Given the description of an element on the screen output the (x, y) to click on. 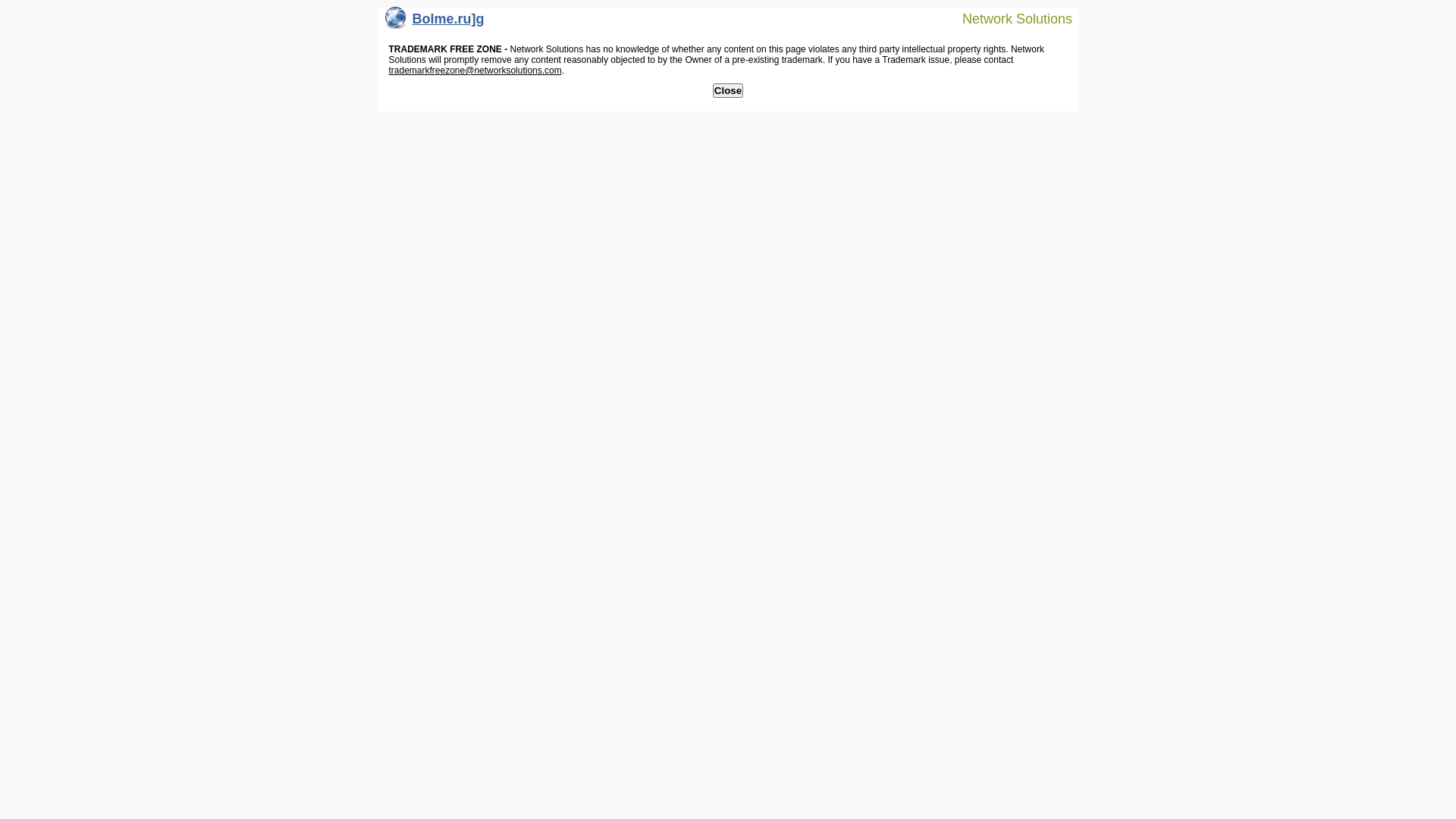
trademarkfreezone@networksolutions.com Element type: text (474, 70)
Bolme.ru]g Element type: text (434, 21)
Close Element type: text (727, 90)
Network Solutions Element type: text (1007, 17)
